Given the description of an element on the screen output the (x, y) to click on. 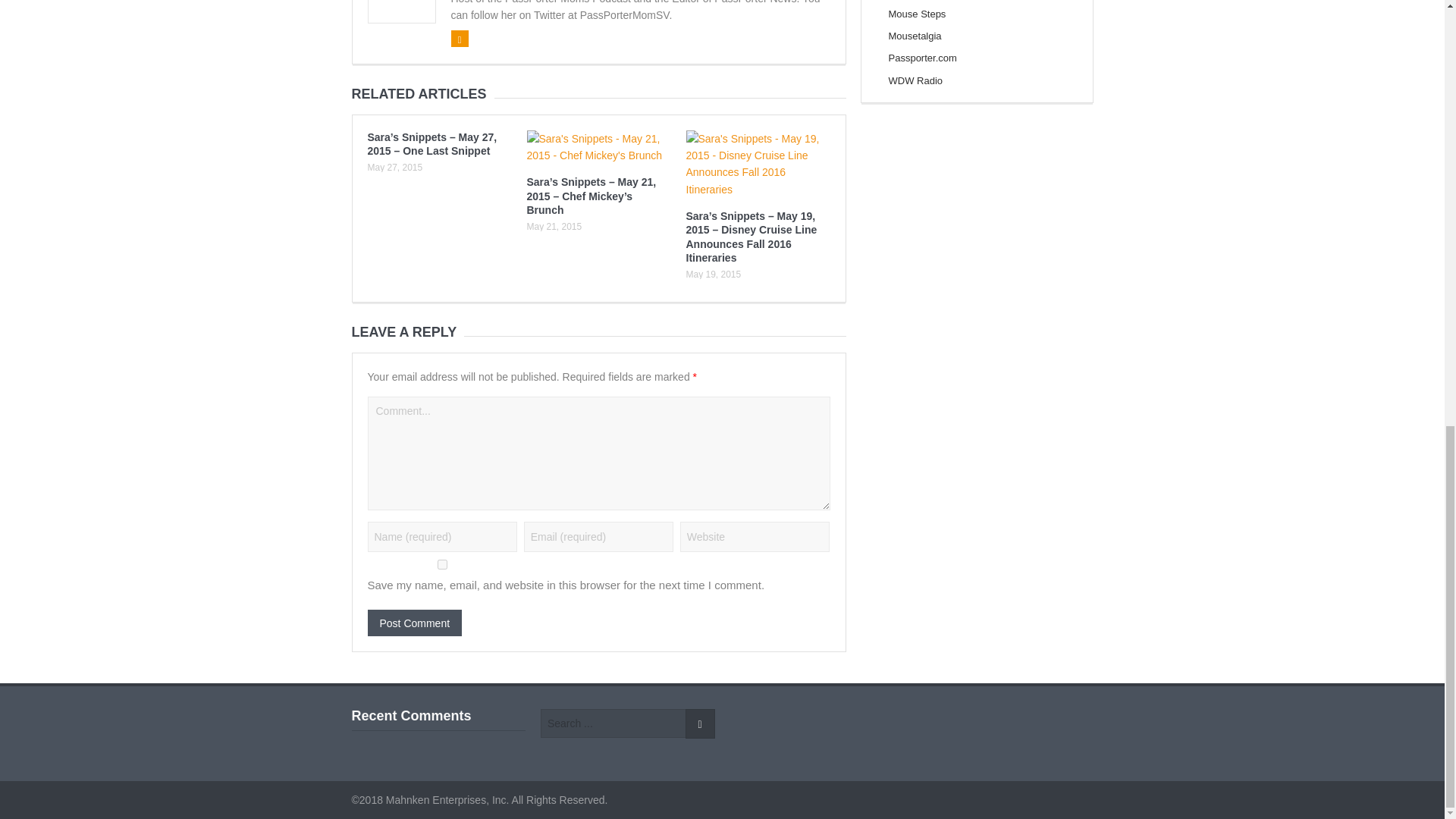
Post Comment (413, 622)
yes (441, 564)
Post Comment (413, 622)
